Given the description of an element on the screen output the (x, y) to click on. 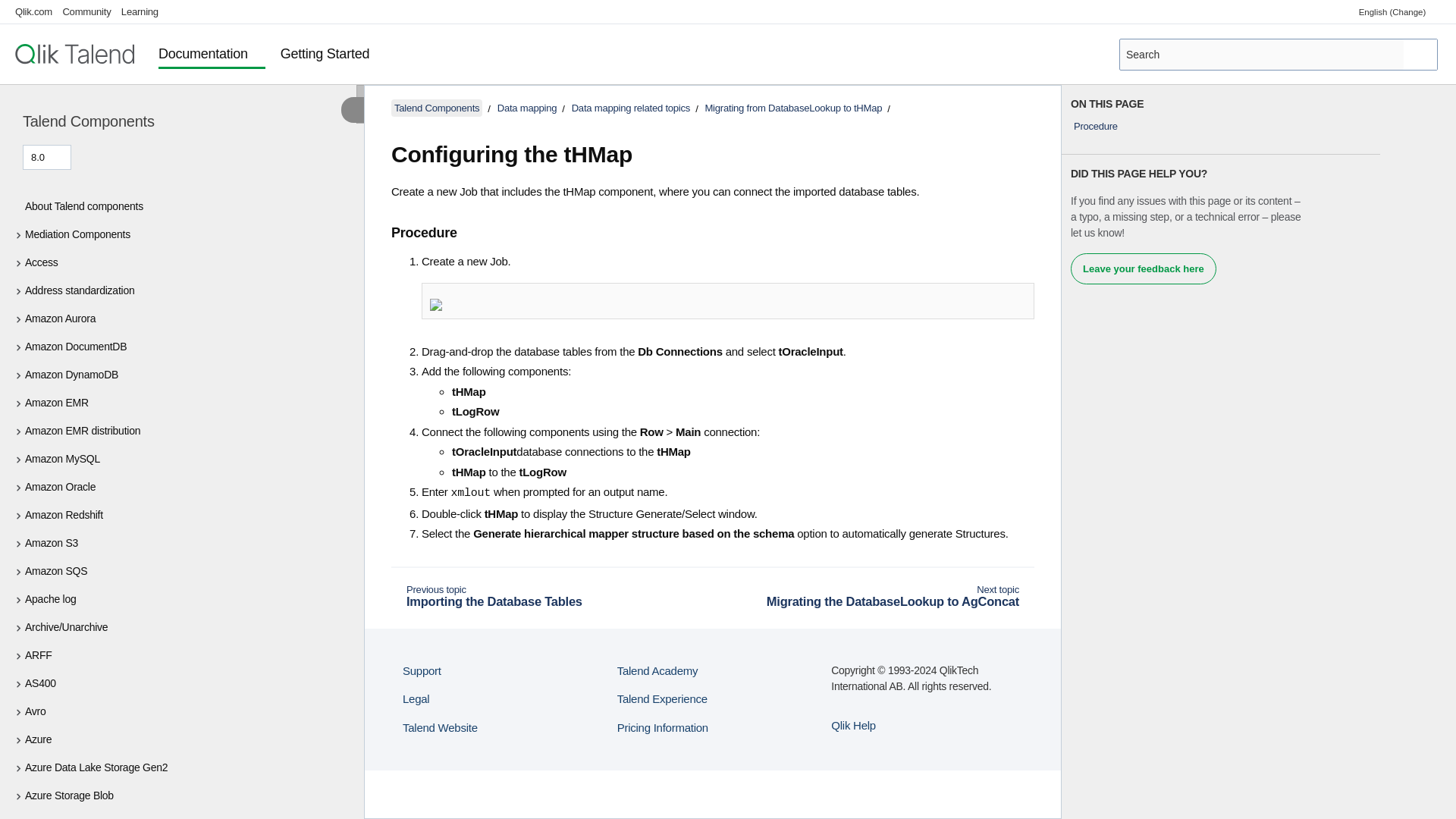
Learning (139, 11)
Documentation (211, 54)
Community (86, 11)
Search (1421, 54)
Getting Started (334, 54)
Qlik.com (33, 11)
